Given the description of an element on the screen output the (x, y) to click on. 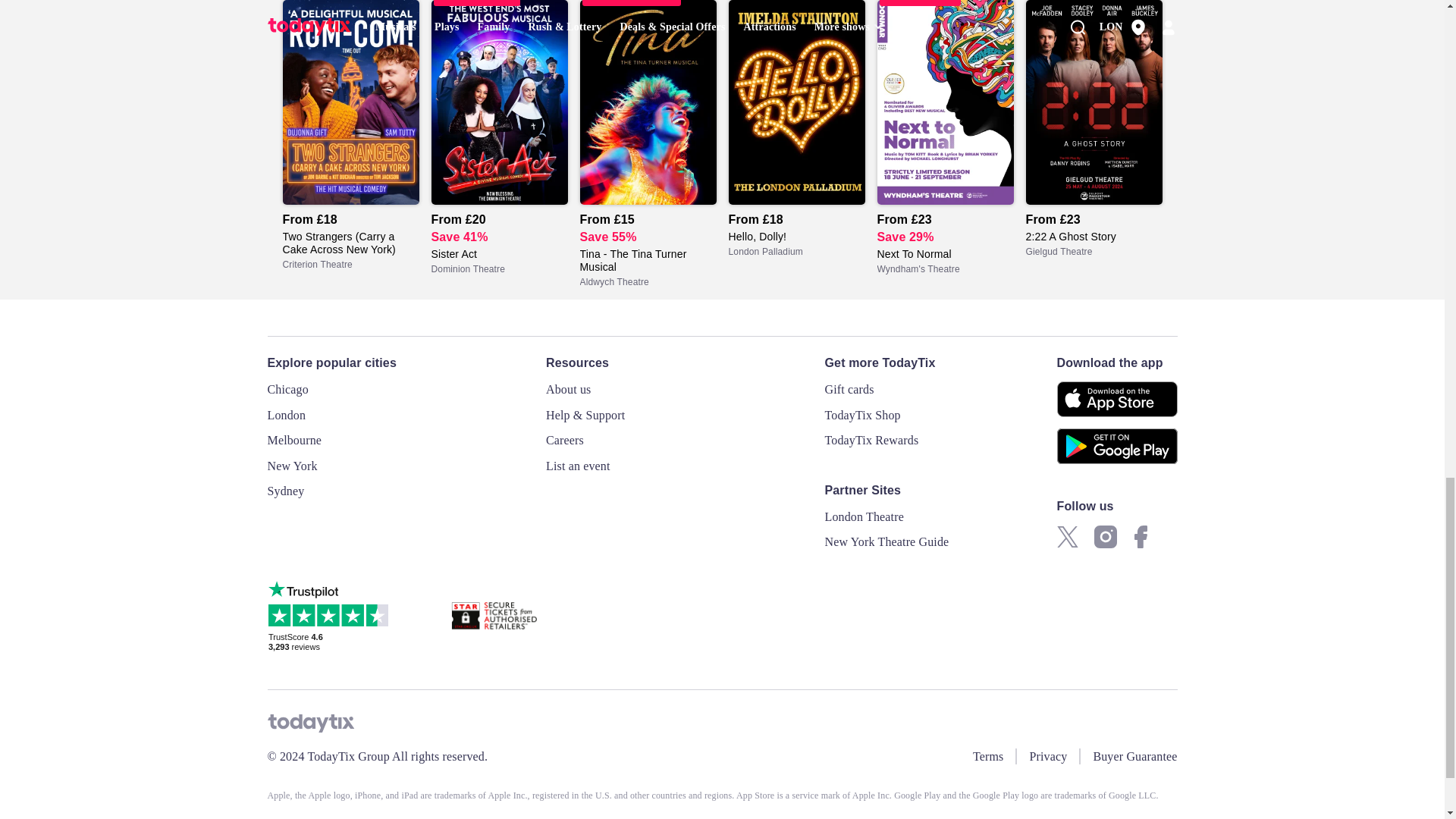
Customer reviews powered by Trustpilot (331, 617)
